Given the description of an element on the screen output the (x, y) to click on. 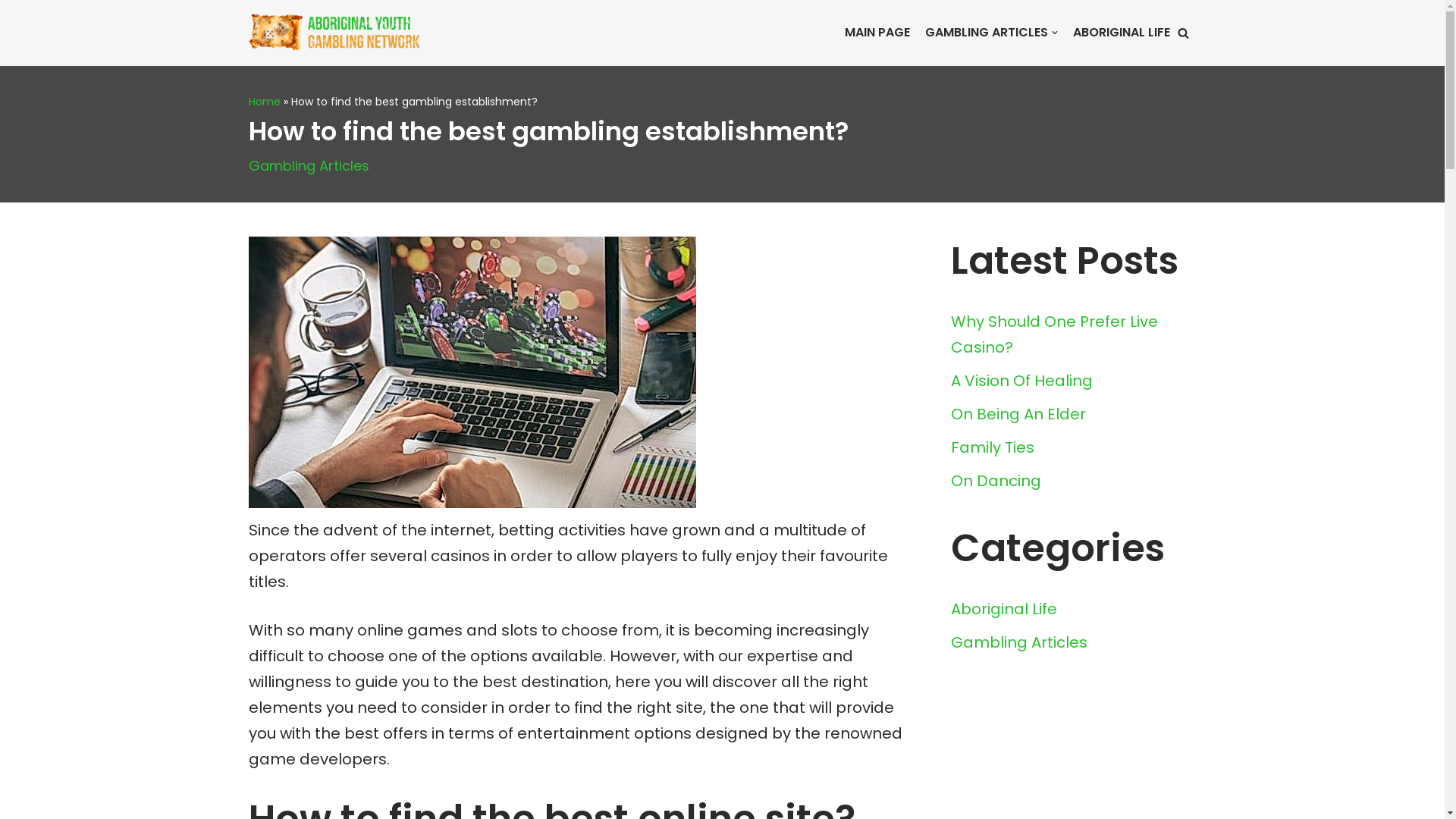
Gambling Articles Element type: text (1018, 641)
ABORIGINAL LIFE Element type: text (1120, 32)
Aboriginal Life Element type: text (1003, 608)
On Being An Elder Element type: text (1017, 413)
On Dancing Element type: text (995, 480)
MAIN PAGE Element type: text (877, 32)
Gambling Articles Element type: text (308, 165)
Home Element type: text (264, 101)
GAMBLING ARTICLES Element type: text (991, 32)
Skip to content Element type: text (11, 31)
Family Ties Element type: text (992, 447)
Aboriginal Casinos: History of Gambling in Canada Element type: hover (343, 32)
A Vision Of Healing Element type: text (1021, 380)
Why Should One Prefer Live Casino? Element type: text (1053, 333)
